Given the description of an element on the screen output the (x, y) to click on. 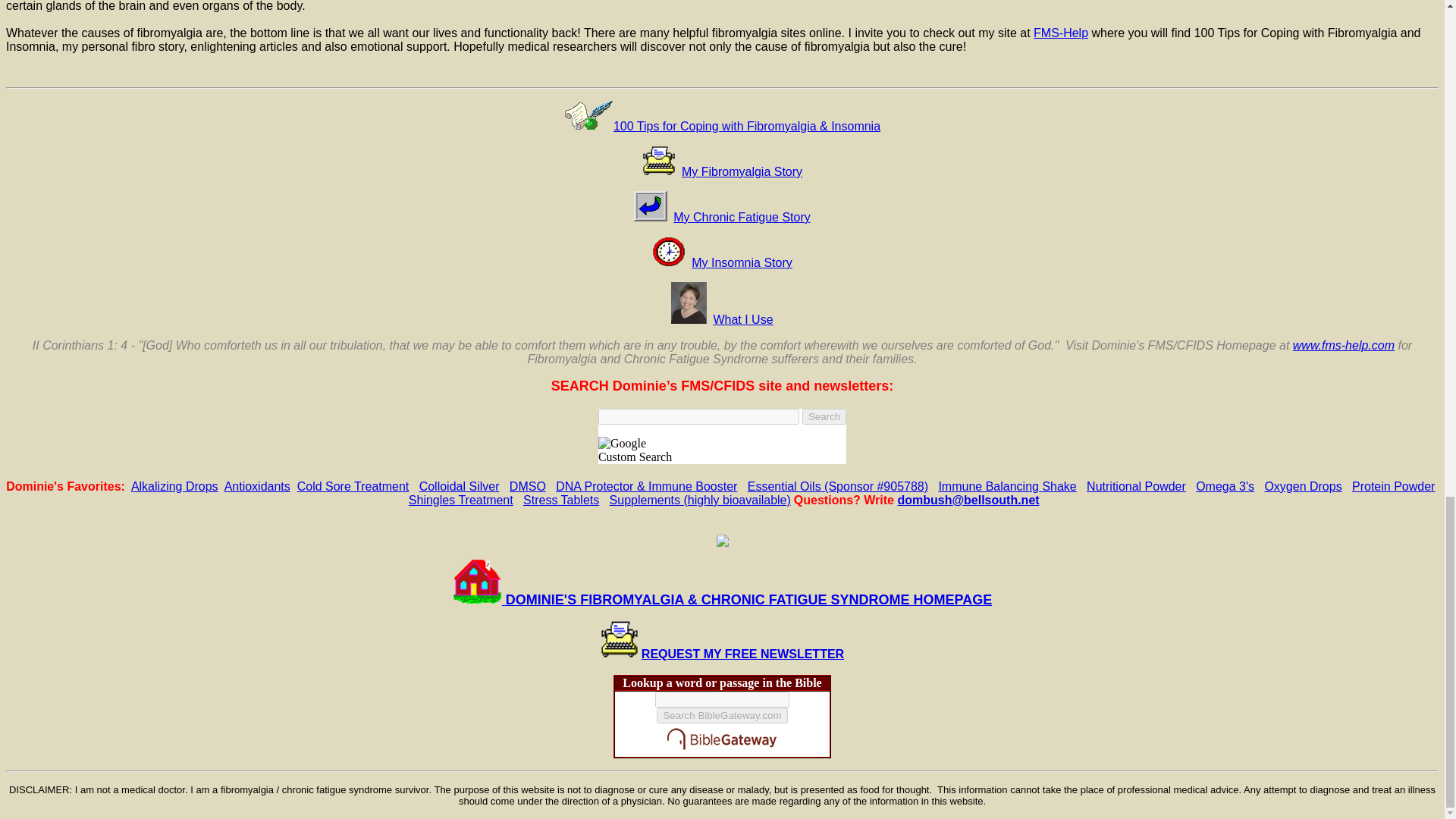
Search (823, 416)
Protein Powder (1393, 486)
www.fms-help.com (1343, 345)
The Bible in multiple languages, versions, and formats (721, 752)
Omega 3's (1224, 486)
FMS-Help (1060, 32)
Search BibleGateway.com (721, 715)
My Insomnia Story (741, 262)
Immune Balancing Shake (1006, 486)
Search BibleGateway.com (721, 715)
Cold Sore Treatment (353, 486)
Alkalizing Drops (174, 486)
Colloidal Silver (459, 486)
REQUEST MY FREE NEWSLETTER (743, 653)
Nutritional Powder (1136, 486)
